Given the description of an element on the screen output the (x, y) to click on. 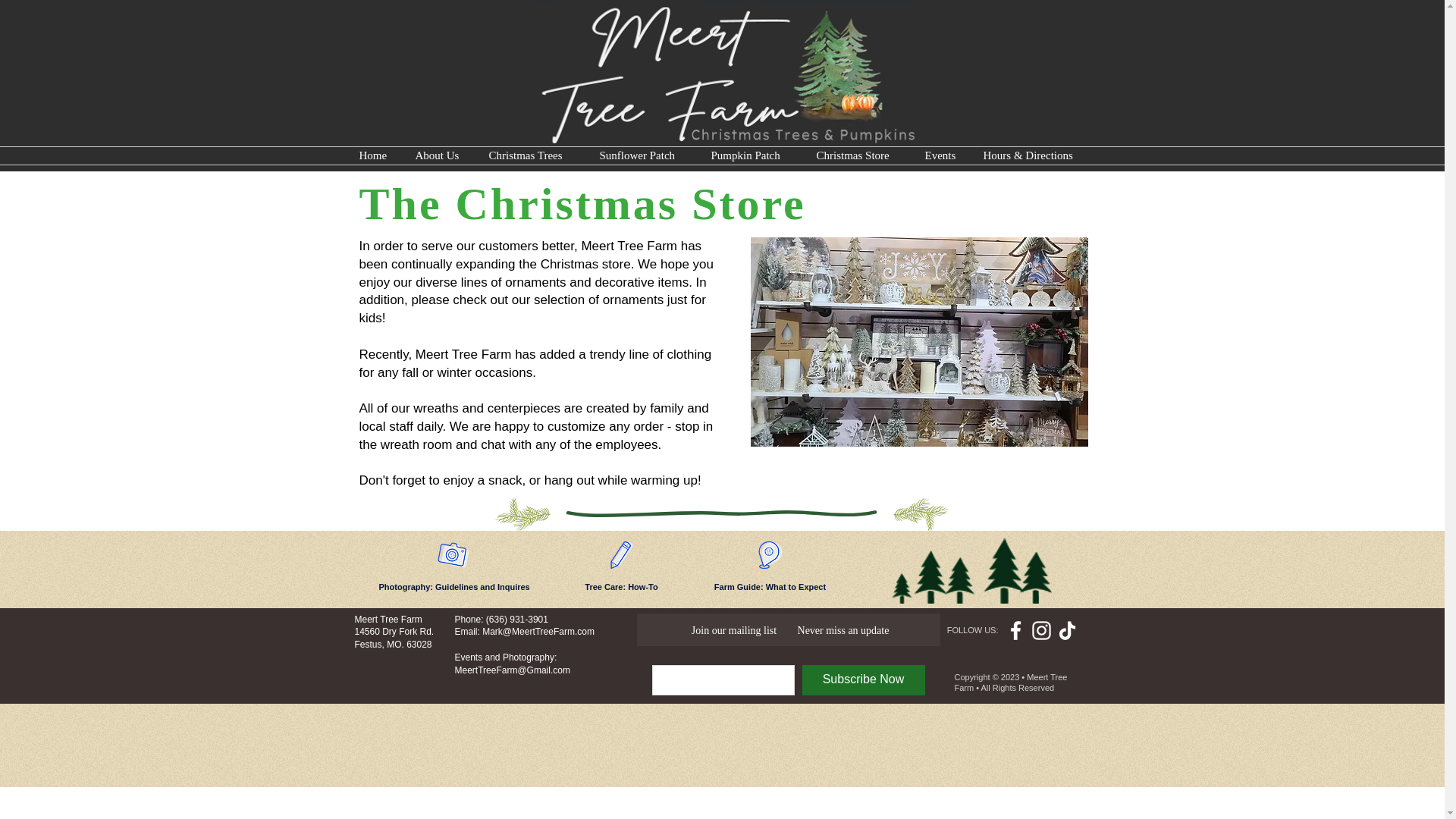
Subscribe Now (863, 680)
Home (375, 155)
Events (941, 155)
Pumpkin Patch (751, 155)
Farm Guide: What to Expect (769, 587)
Photography: Guidelines and Inquires (453, 587)
Tree Care: How-To (620, 587)
Sunflower Patch (644, 155)
Christmas Store (859, 155)
Christmas Trees (532, 155)
